Given the description of an element on the screen output the (x, y) to click on. 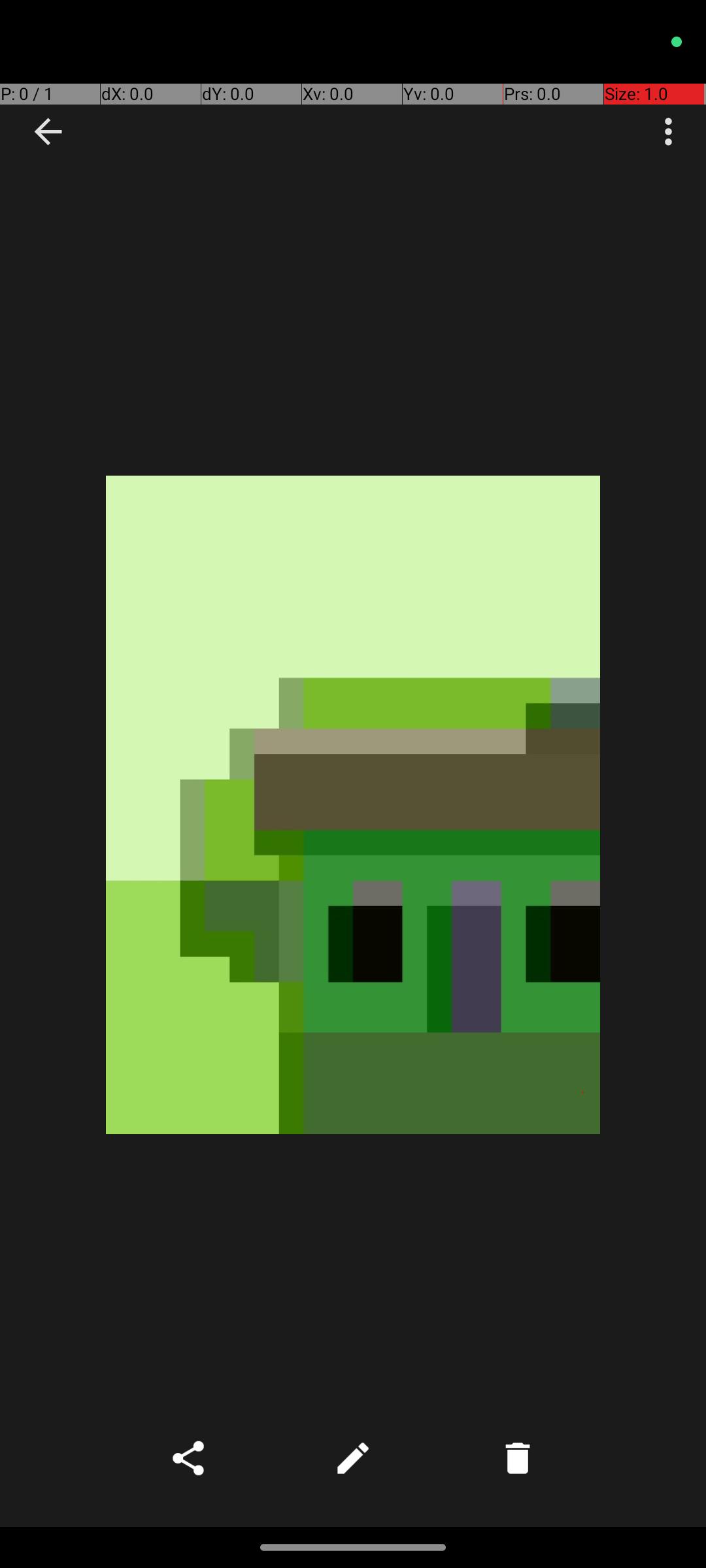
Photo taken on Oct 15, 2023 15:34:19 Element type: android.widget.ImageView (352, 804)
